Given the description of an element on the screen output the (x, y) to click on. 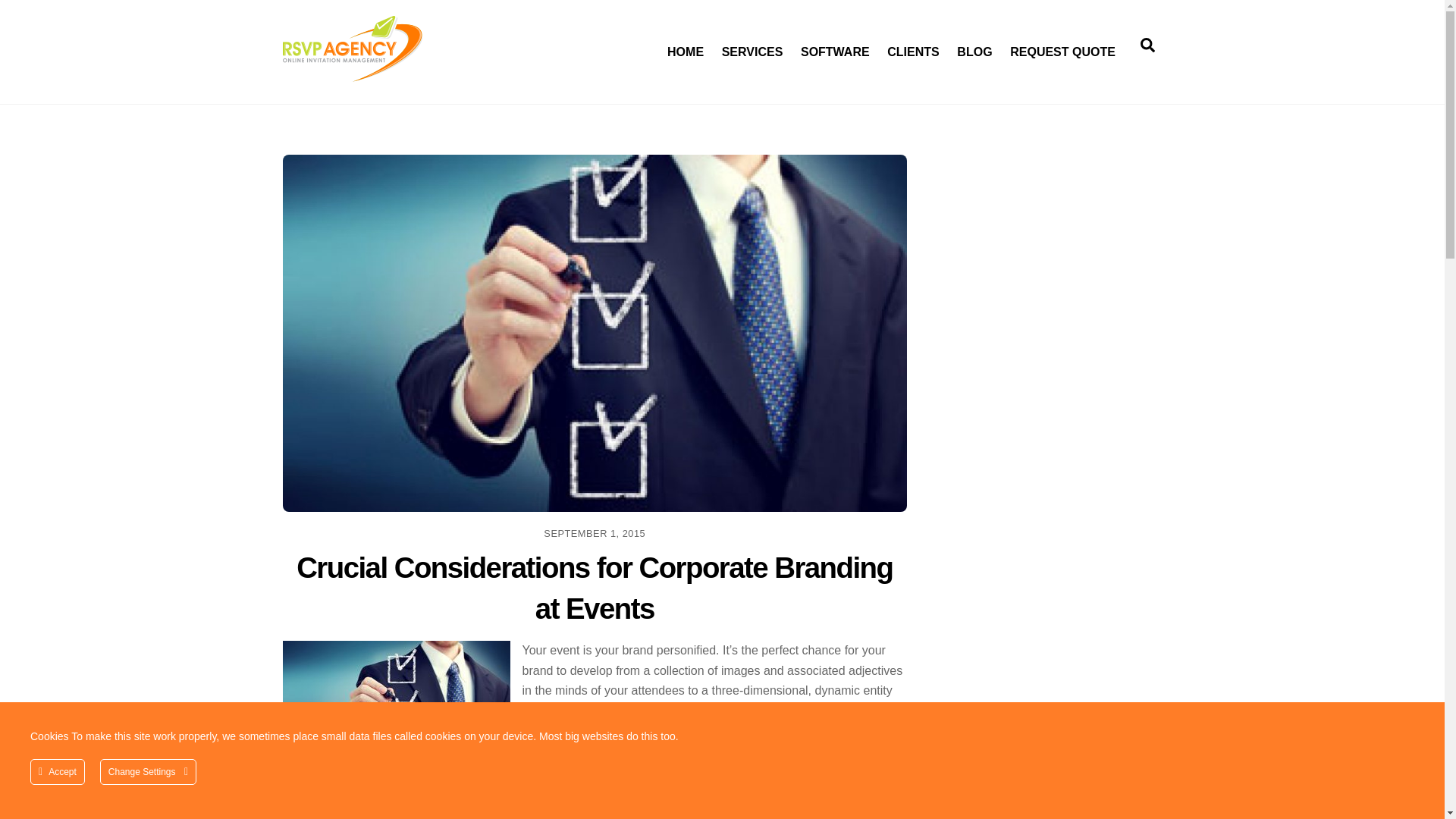
BLOG (974, 44)
HOME (684, 44)
Search (1146, 44)
SOFTWARE (834, 44)
SERVICES (752, 44)
REQUEST QUOTE (1062, 44)
CLIENTS (721, 44)
Crucial Considerations for Corporate Branding at Events (913, 44)
The RSVP Agency (594, 587)
